Given the description of an element on the screen output the (x, y) to click on. 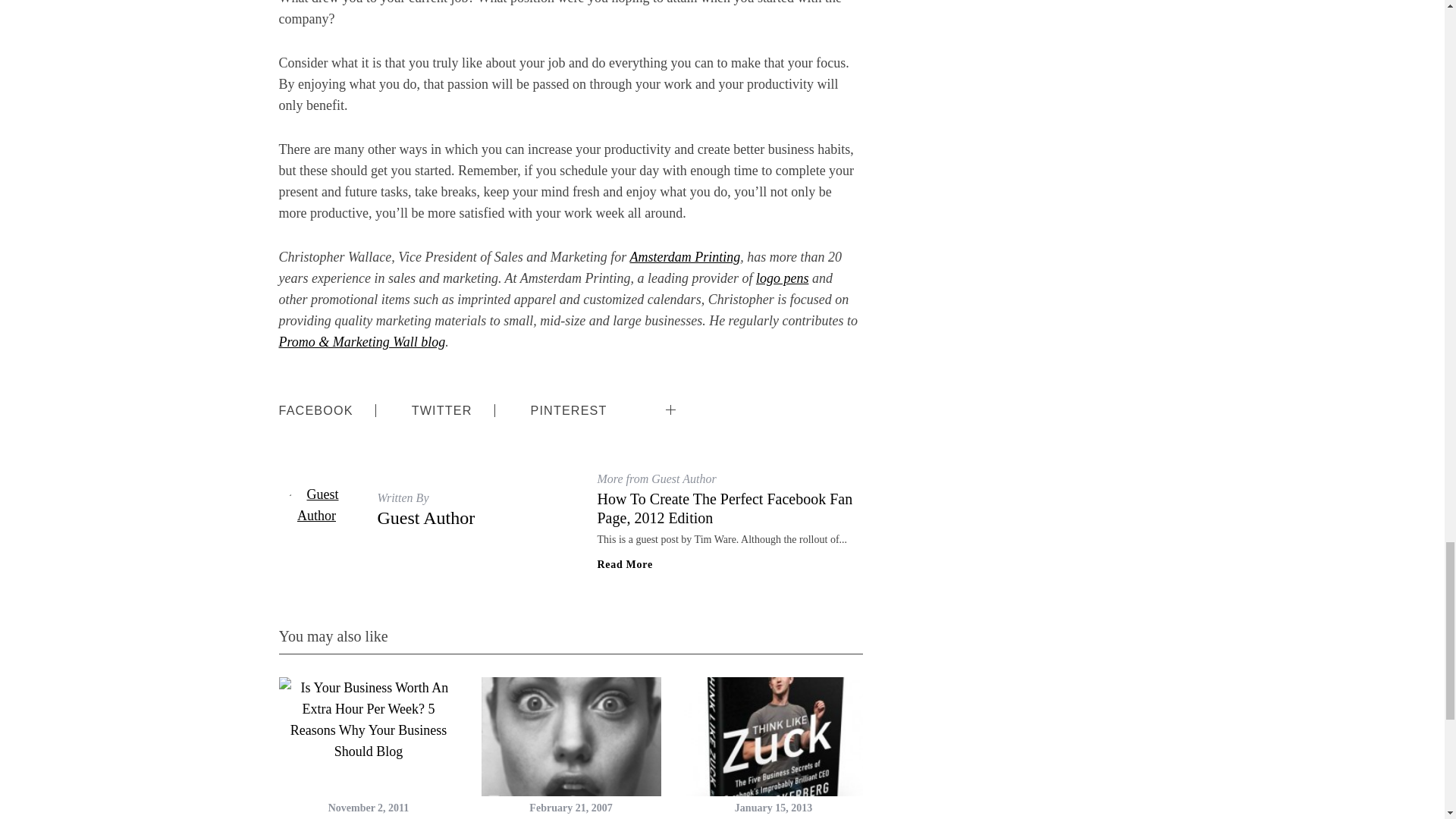
LINKEDIN (714, 398)
Read More (624, 564)
Guest Author (426, 517)
TWITTER (441, 409)
PINTEREST (569, 409)
How To Create The Perfect Facebook Fan Page, 2012 Edition (724, 508)
